Given the description of an element on the screen output the (x, y) to click on. 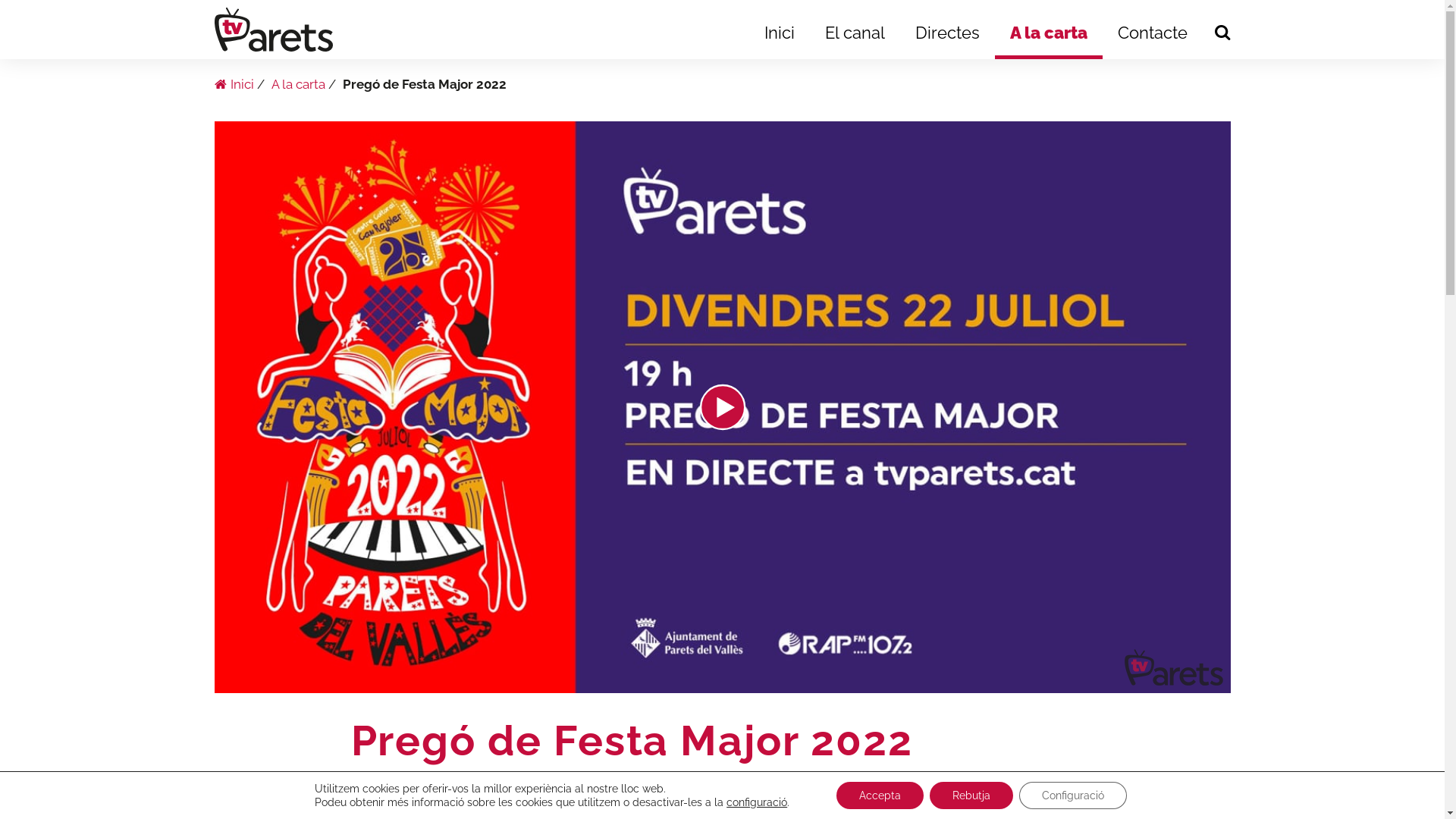
Accepta Element type: text (879, 795)
El canal Element type: text (854, 34)
A la carta Element type: text (298, 83)
Directes Element type: text (947, 34)
A la carta Element type: text (1048, 34)
Inici Element type: text (779, 34)
Rebutja Element type: text (971, 795)
Inici Element type: text (233, 83)
Contacte Element type: text (1152, 34)
